Given the description of an element on the screen output the (x, y) to click on. 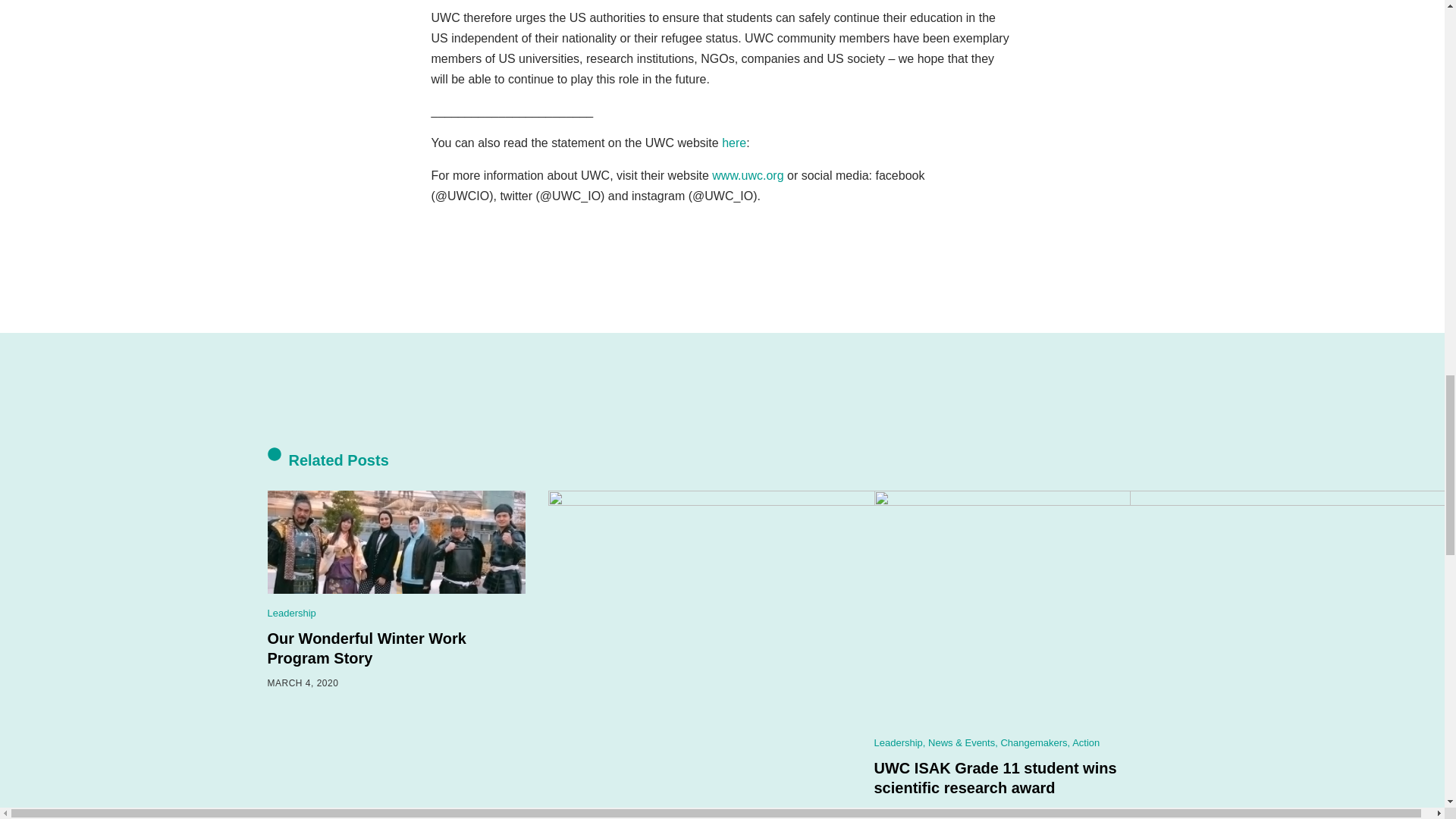
here (733, 142)
www.uwc.org (747, 174)
Our Wonderful Winter Work Program Story (365, 647)
Leadership (897, 742)
UWC ISAK Grade 11 student wins scientific research award (994, 778)
Leadership (290, 613)
Changemakers (1033, 742)
Action (1085, 742)
